Given the description of an element on the screen output the (x, y) to click on. 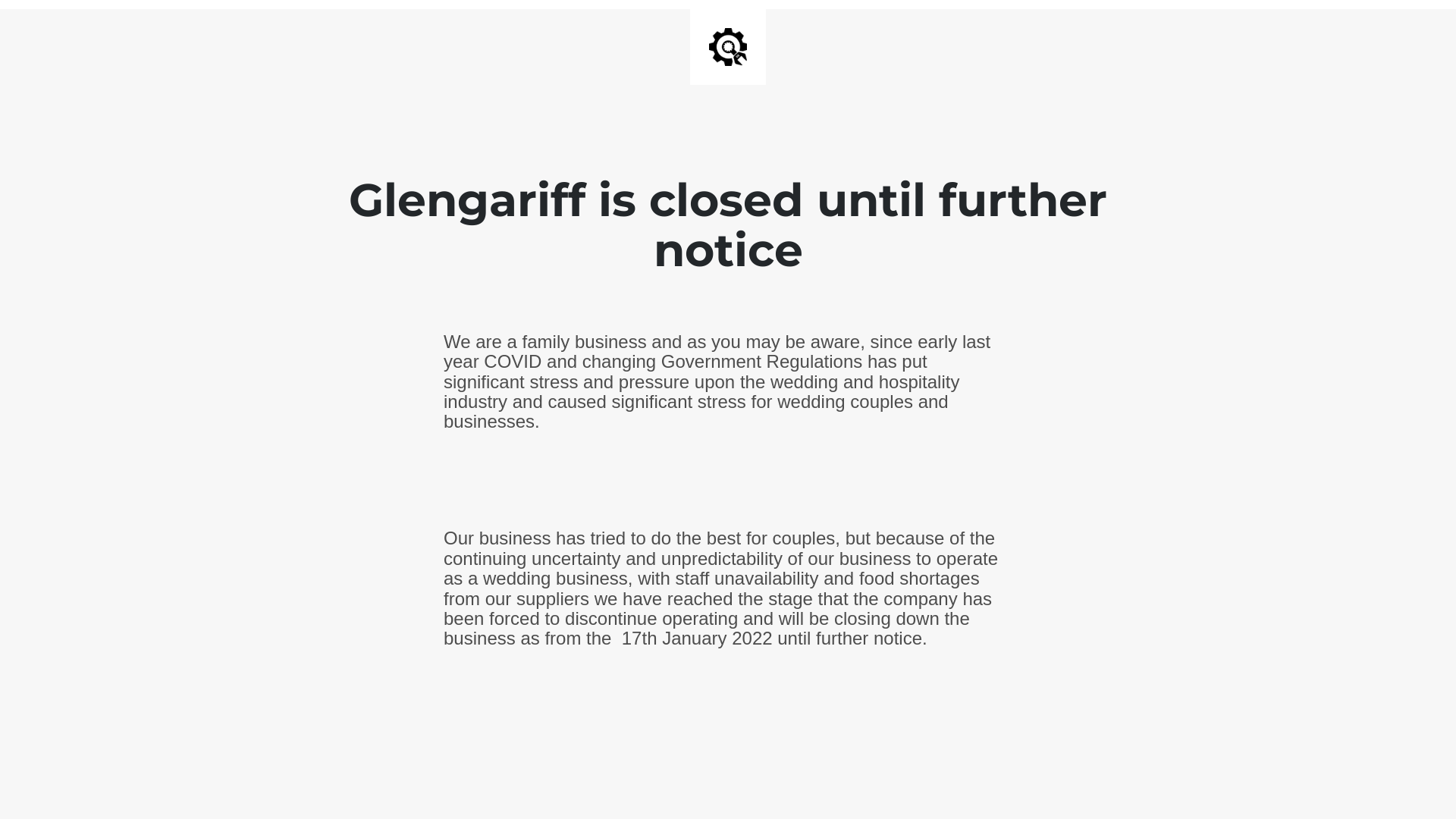
Site is Under Construction Element type: hover (727, 46)
